Given the description of an element on the screen output the (x, y) to click on. 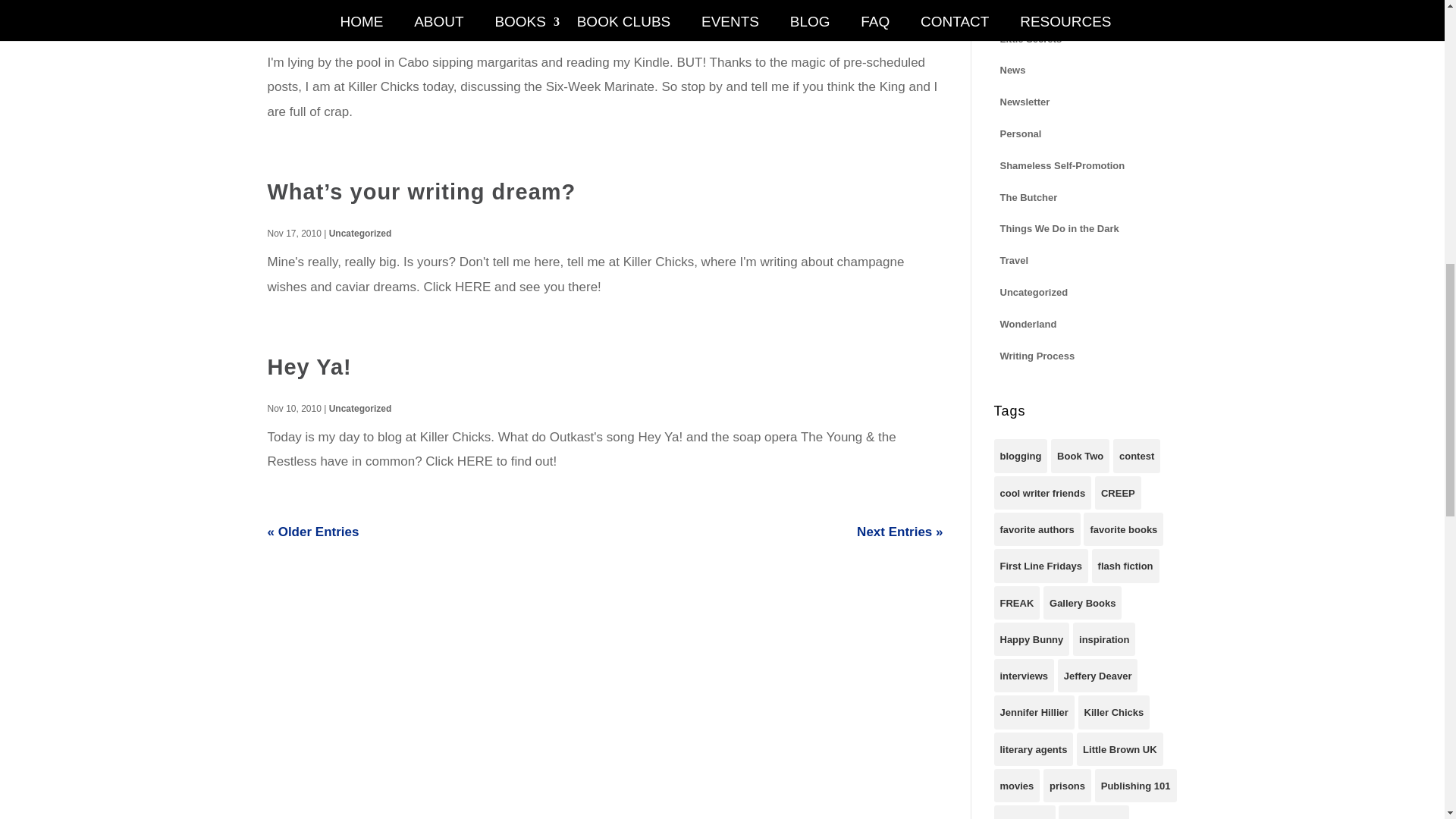
Uncategorized (355, 33)
News (1011, 68)
Uncategorized (360, 408)
Jar of Hearts (1028, 8)
Hey Ya! (308, 366)
Uncategorized (360, 233)
Newsletter (1023, 100)
Little Secrets (1029, 37)
Personal (1019, 132)
